Given the description of an element on the screen output the (x, y) to click on. 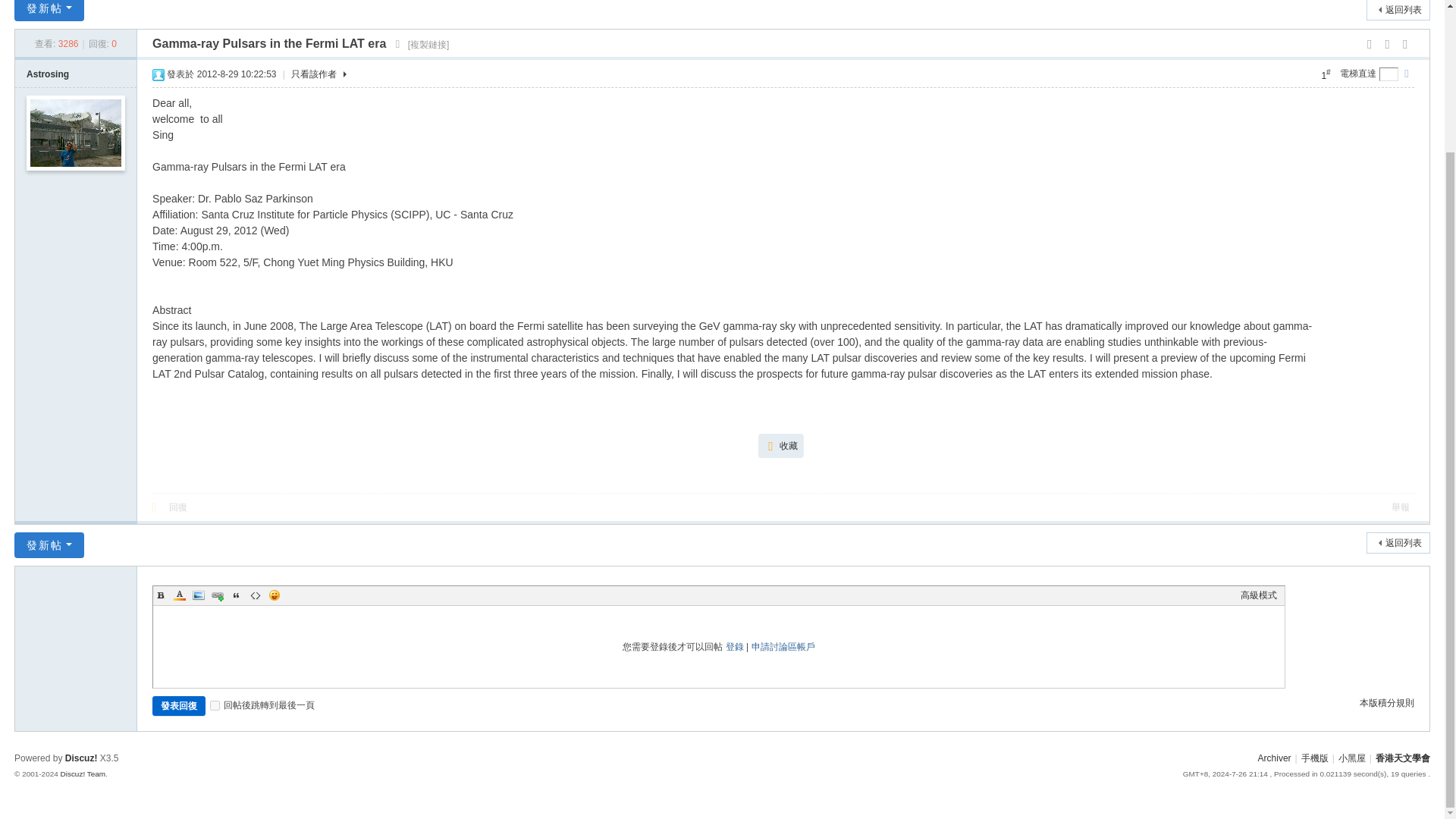
Astrosing (47, 73)
on (214, 705)
